Given the description of an element on the screen output the (x, y) to click on. 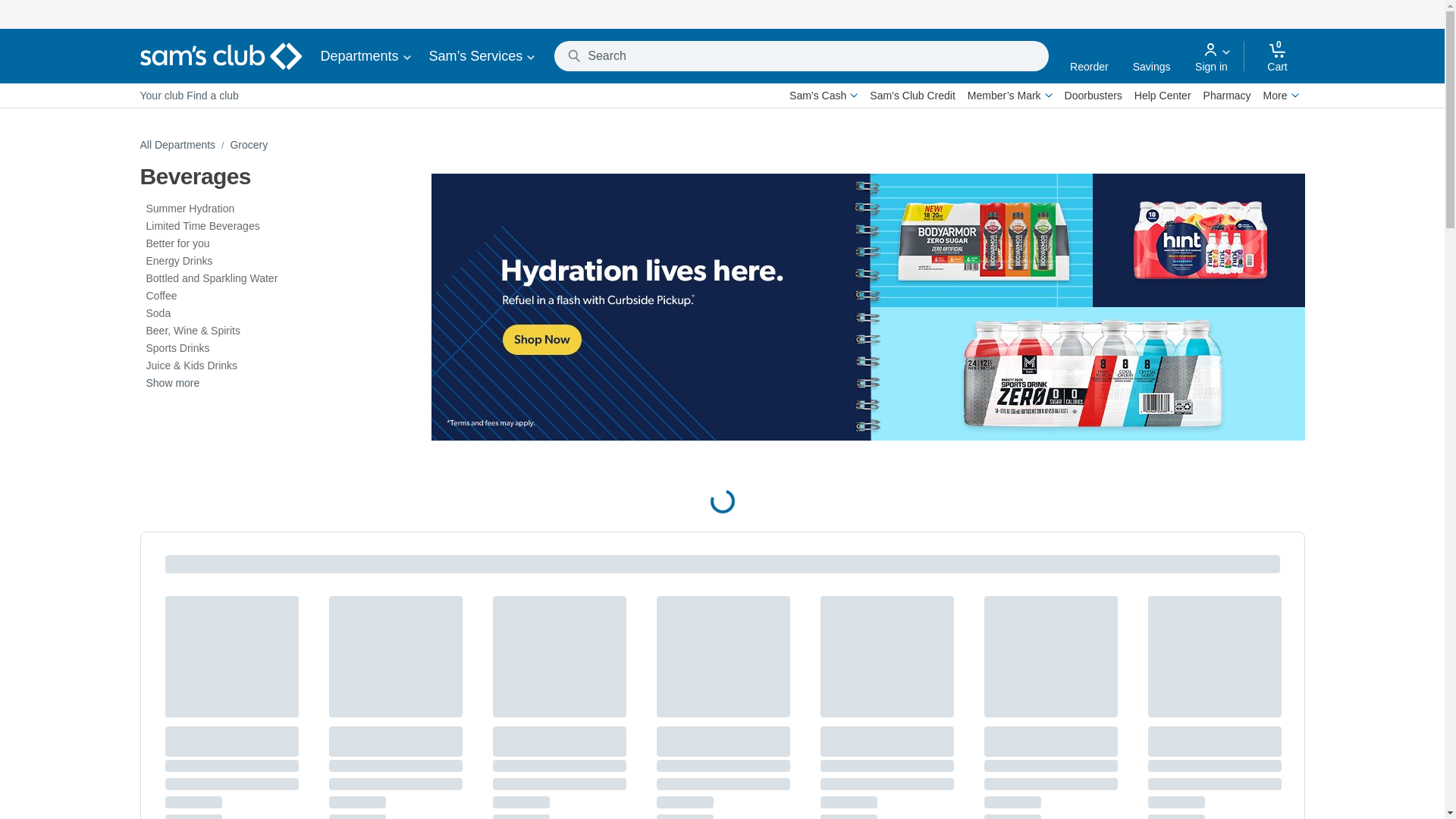
Sam's Club homepage logo (220, 56)
